Given the description of an element on the screen output the (x, y) to click on. 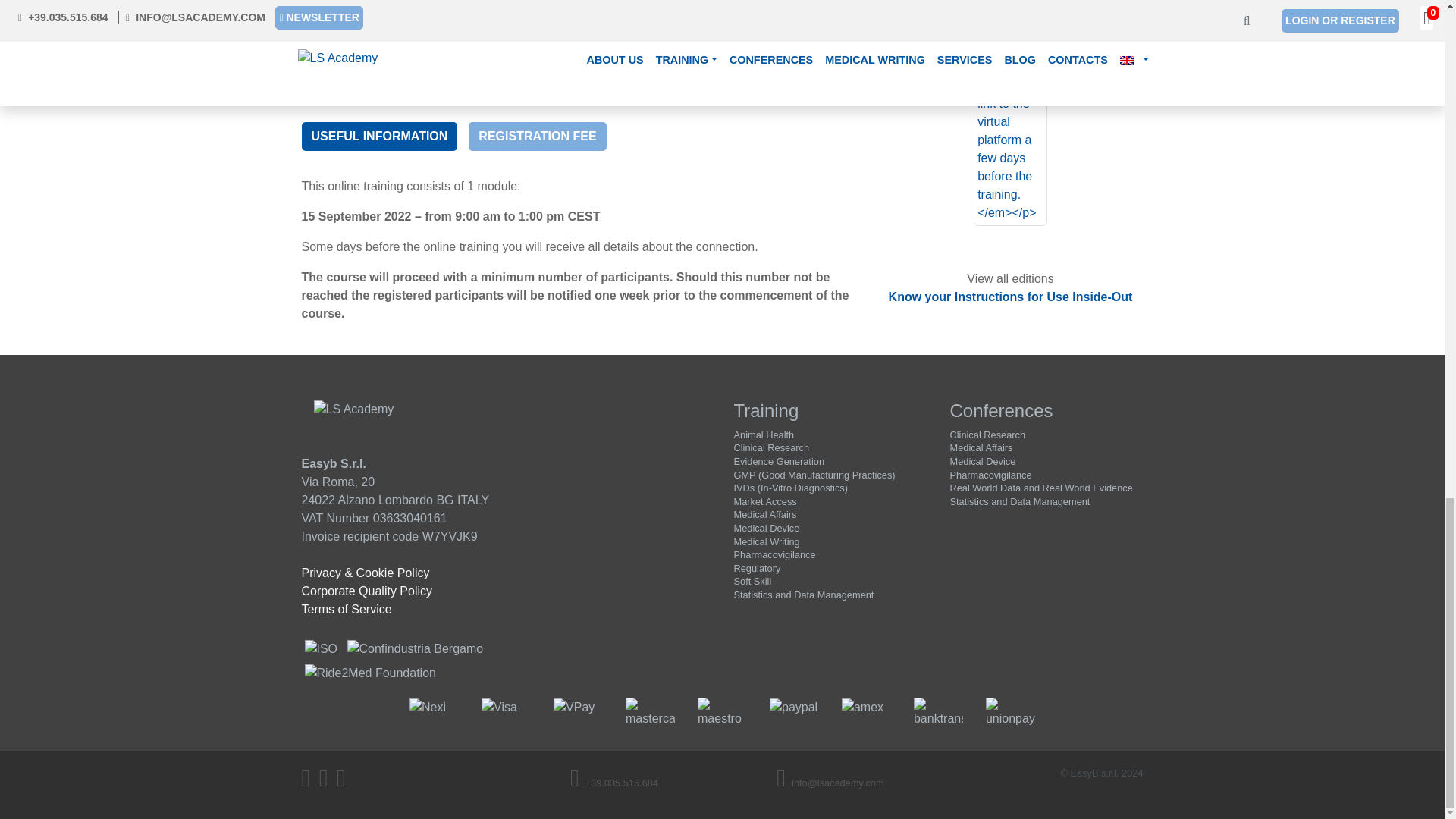
course (829, 411)
conference (1045, 411)
Terms of Service (346, 608)
USEFUL INFORMATION (379, 136)
Know your Instructions for Use Inside-Out (1010, 296)
Corporate Quality Policy (366, 590)
REGISTRATION FEE (536, 136)
Info (820, 29)
